Given the description of an element on the screen output the (x, y) to click on. 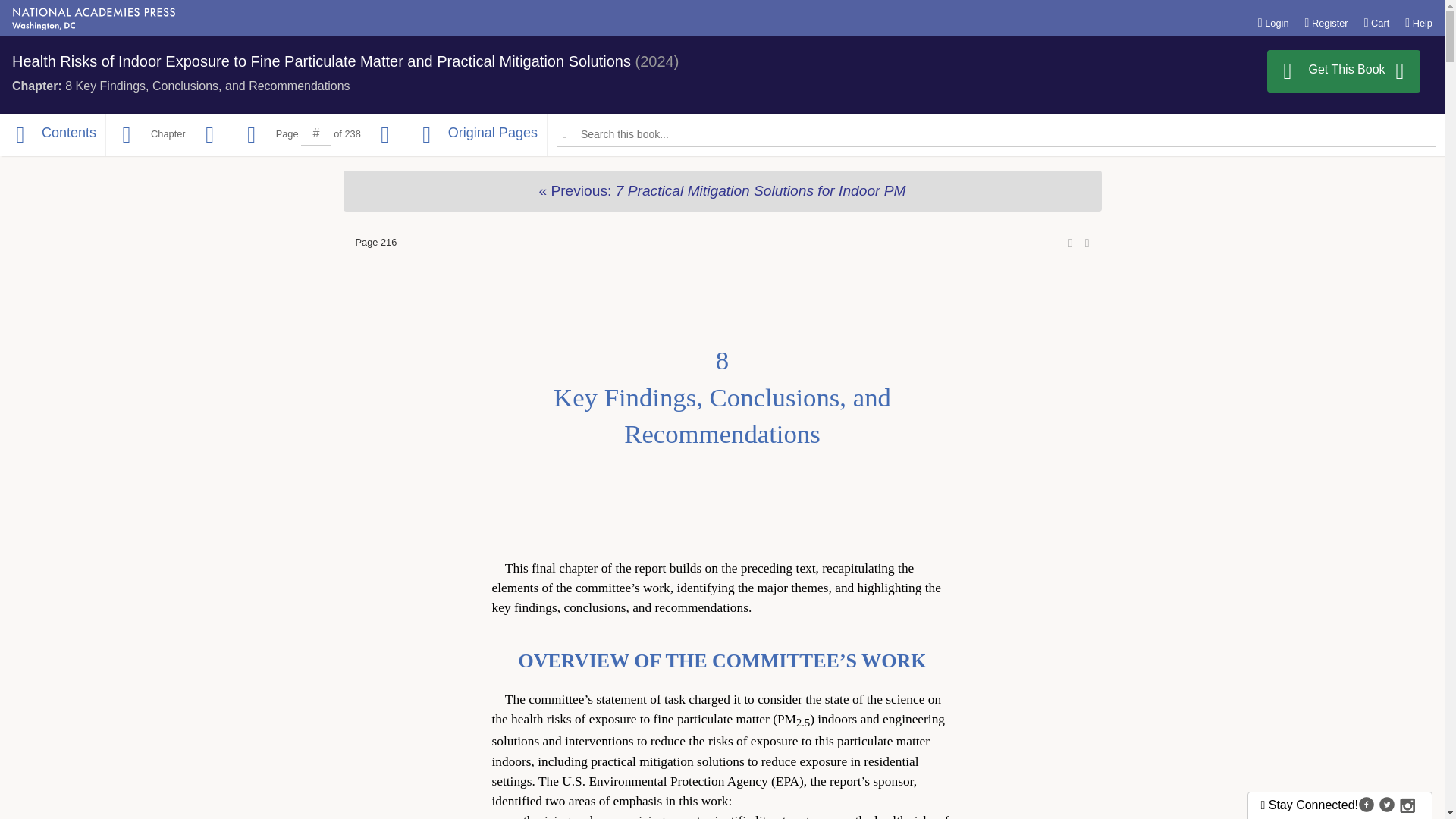
Help (1418, 22)
Previous Chapter (721, 190)
Register (722, 396)
Cart (1326, 22)
Login (1377, 22)
